Given the description of an element on the screen output the (x, y) to click on. 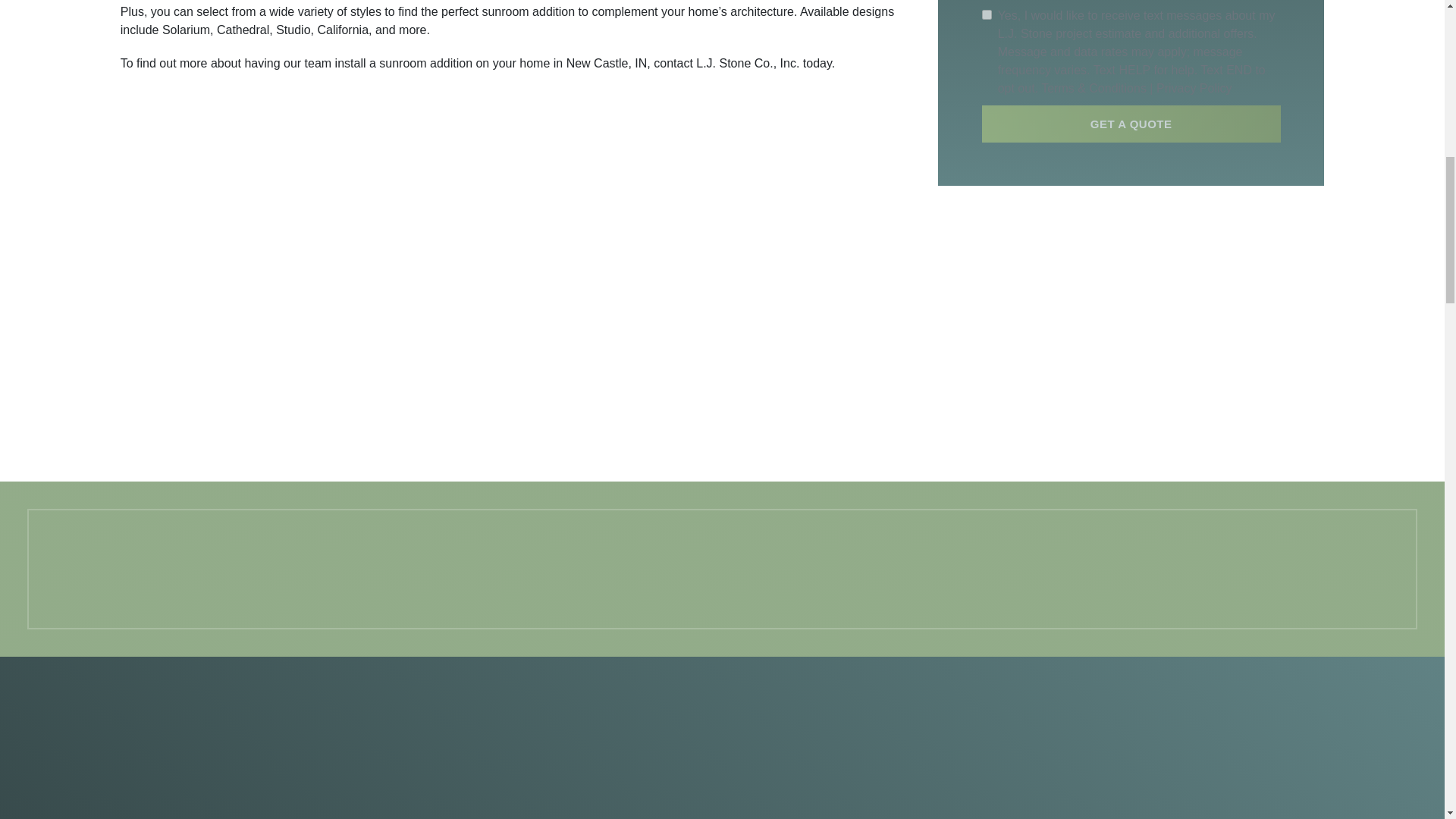
Get a Quote (1131, 100)
